Given the description of an element on the screen output the (x, y) to click on. 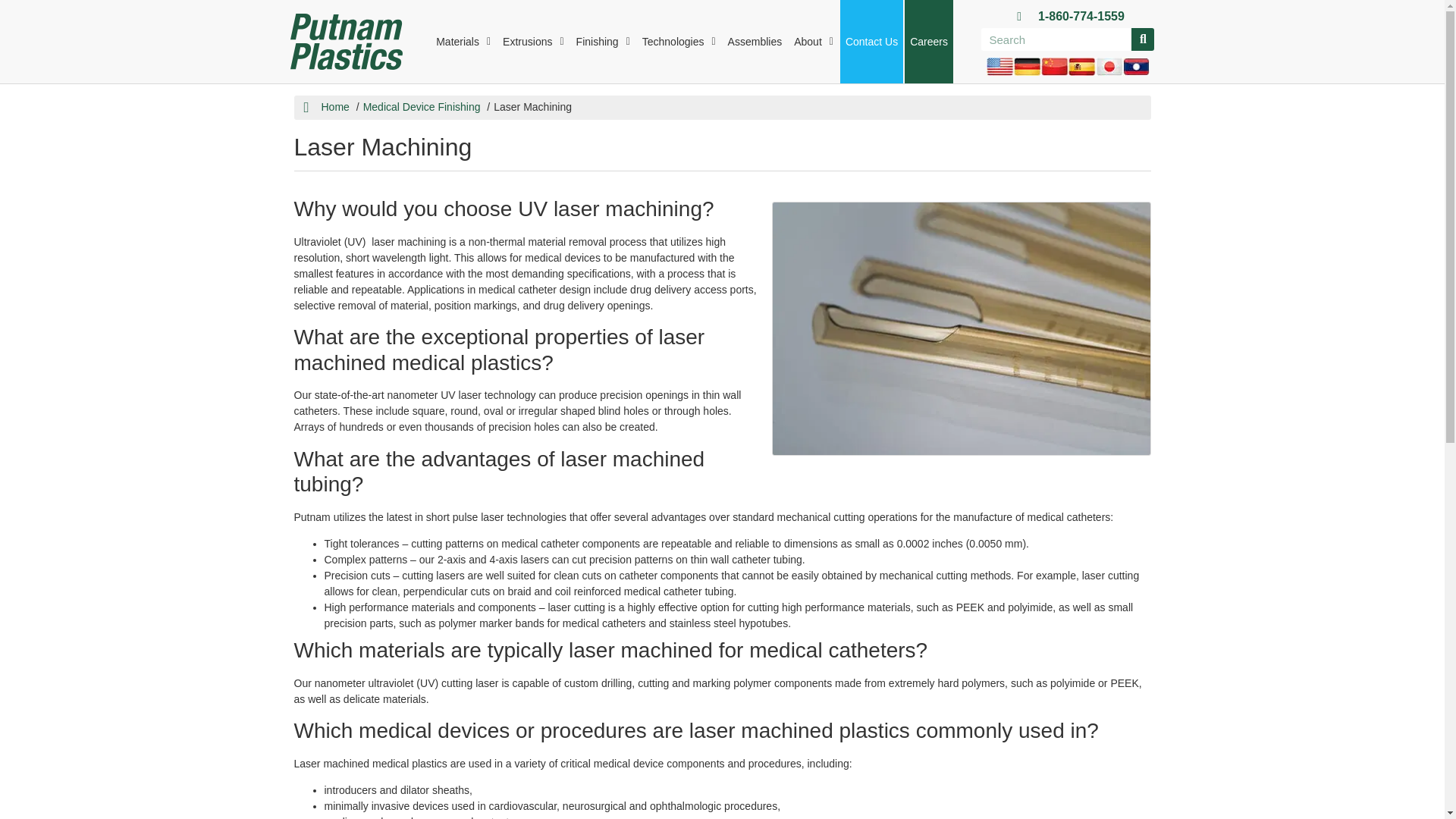
Technologies (678, 41)
Japanese (1109, 66)
Laotian (1136, 66)
Spanish (1082, 66)
Chinese (1054, 66)
English (1000, 66)
German (1027, 66)
